Given the description of an element on the screen output the (x, y) to click on. 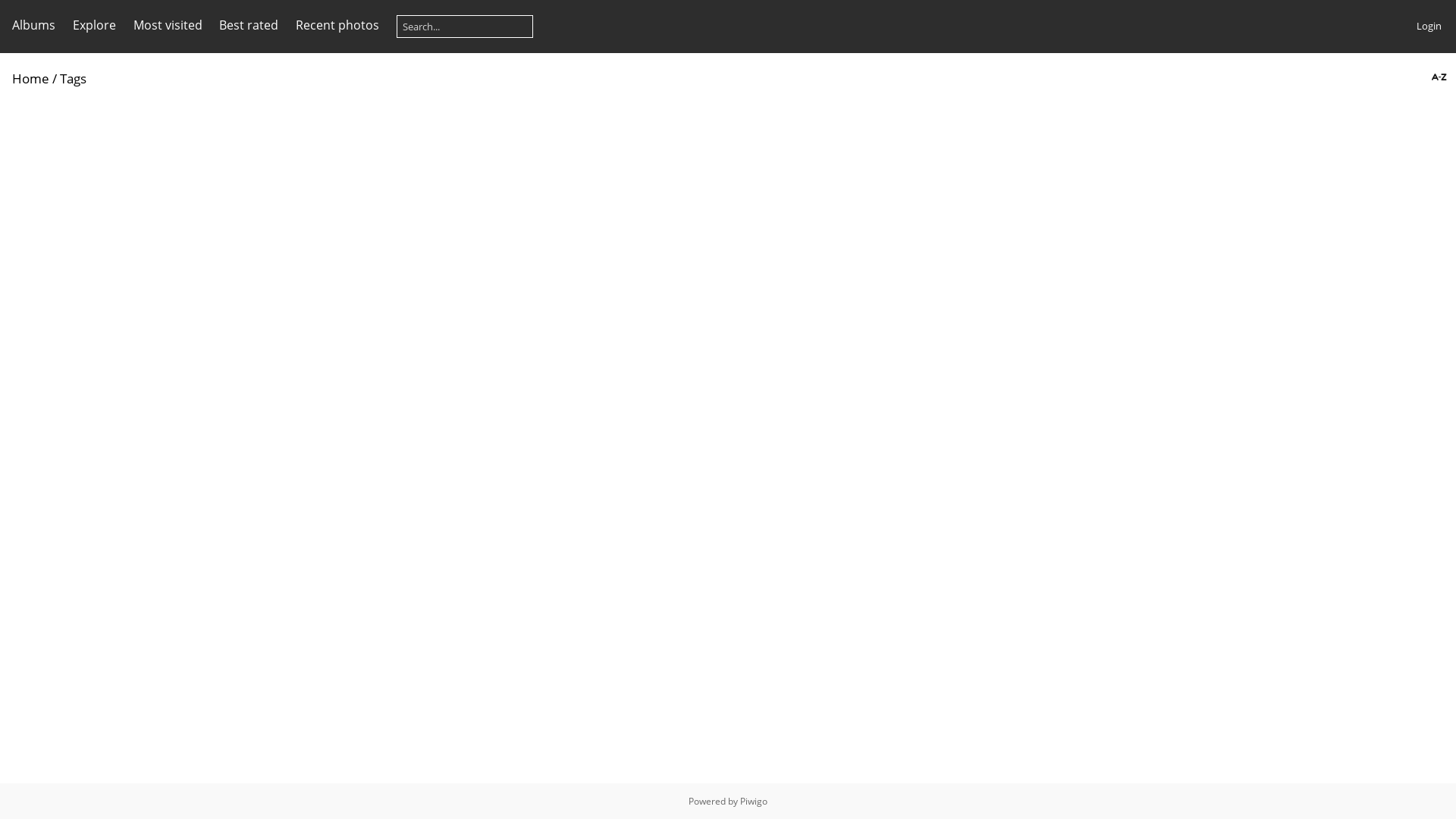
Albums Element type: text (33, 24)
group by letters Element type: hover (1437, 77)
Best rated Element type: text (248, 24)
Most visited Element type: text (167, 24)
Explore Element type: text (94, 24)
Login Element type: text (1428, 25)
Home Element type: text (30, 78)
Piwigo Element type: text (753, 800)
Recent photos Element type: text (337, 24)
